Given the description of an element on the screen output the (x, y) to click on. 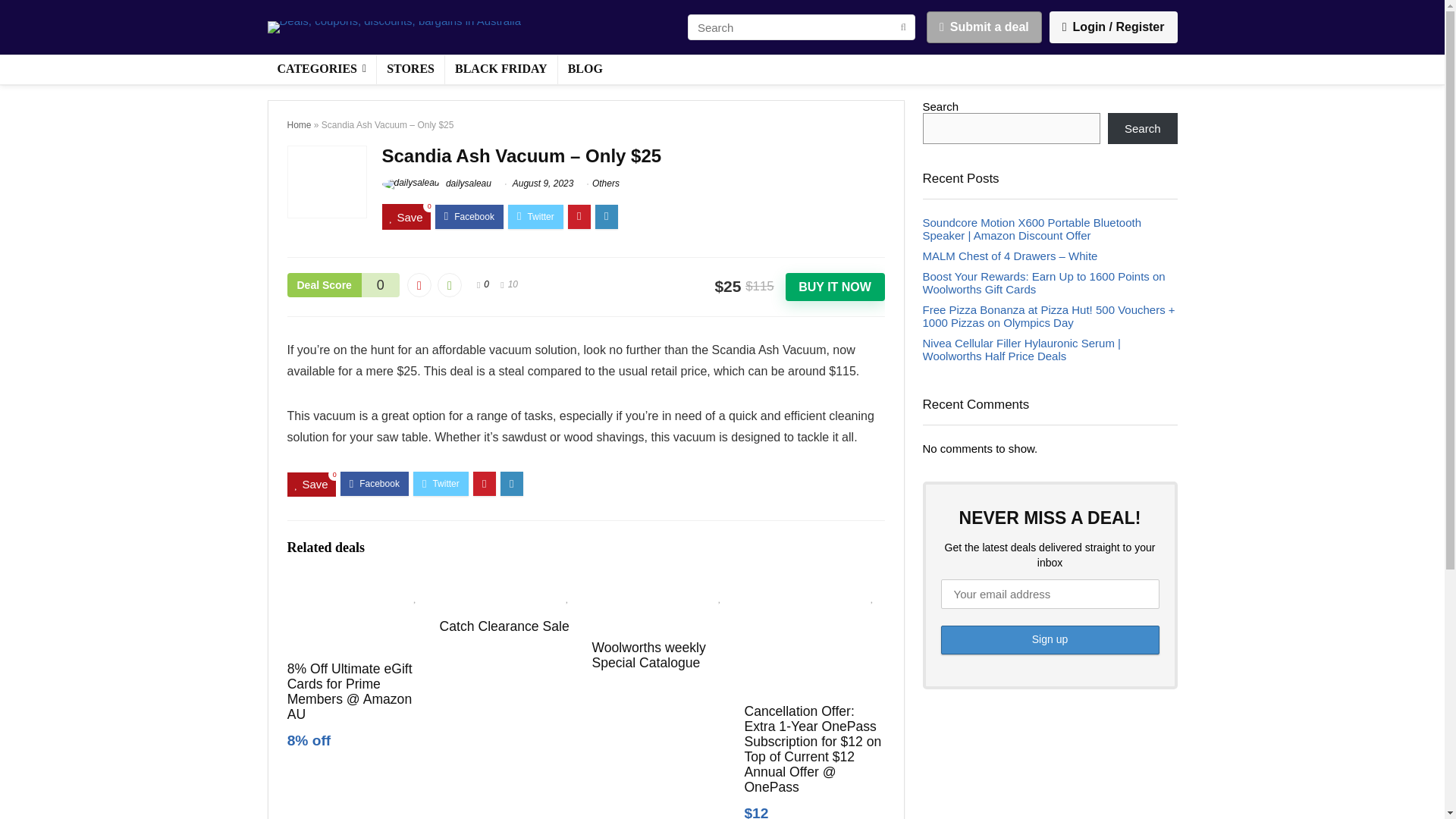
CATEGORIES (320, 69)
Catch Clearance Sale (504, 626)
BUY IT NOW (835, 287)
Submit a deal (984, 27)
Sign up (1049, 639)
Home (298, 124)
BLOG (584, 69)
Vote down (418, 284)
Others (606, 183)
View all posts in Others (606, 183)
Woolworths weekly Special Catalogue (647, 654)
Vote up (449, 284)
dailysaleau (436, 183)
STORES (410, 69)
BLACK FRIDAY (501, 69)
